Given the description of an element on the screen output the (x, y) to click on. 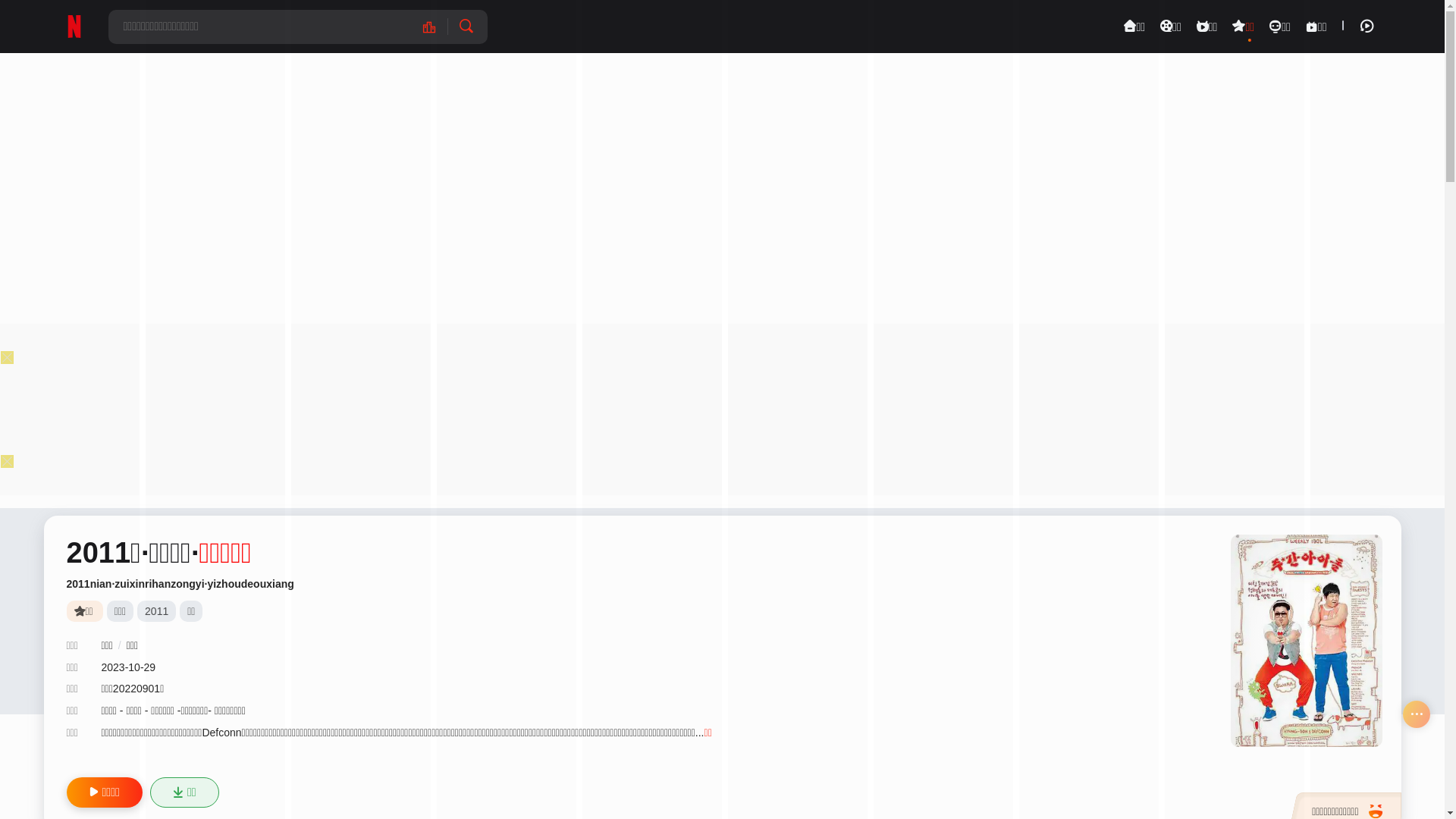
2011 Element type: text (156, 610)
